Given the description of an element on the screen output the (x, y) to click on. 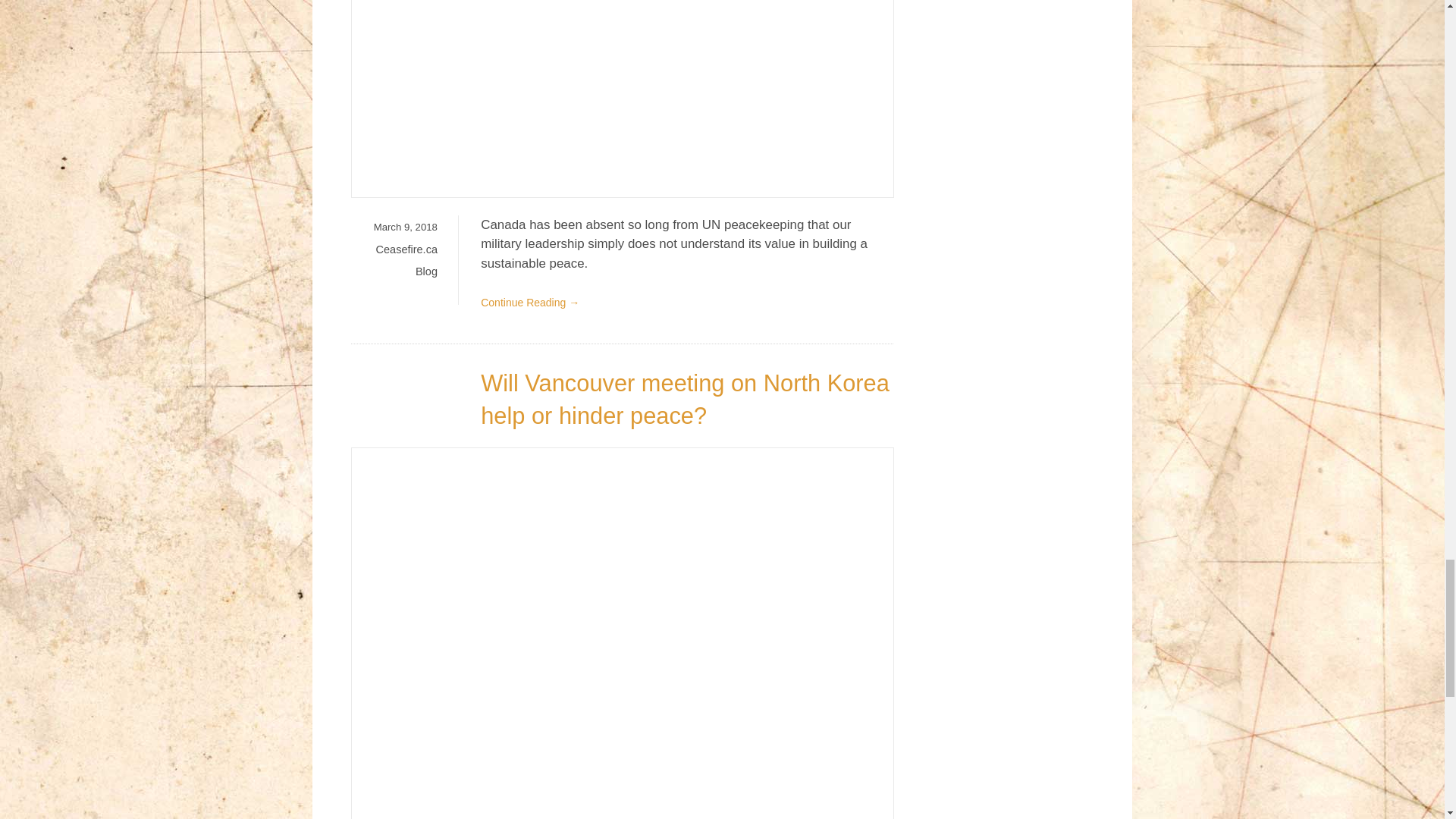
Ceasefire.ca (406, 248)
Blog (426, 271)
Will Vancouver meeting on North Korea help or hinder peace? (684, 399)
